Given the description of an element on the screen output the (x, y) to click on. 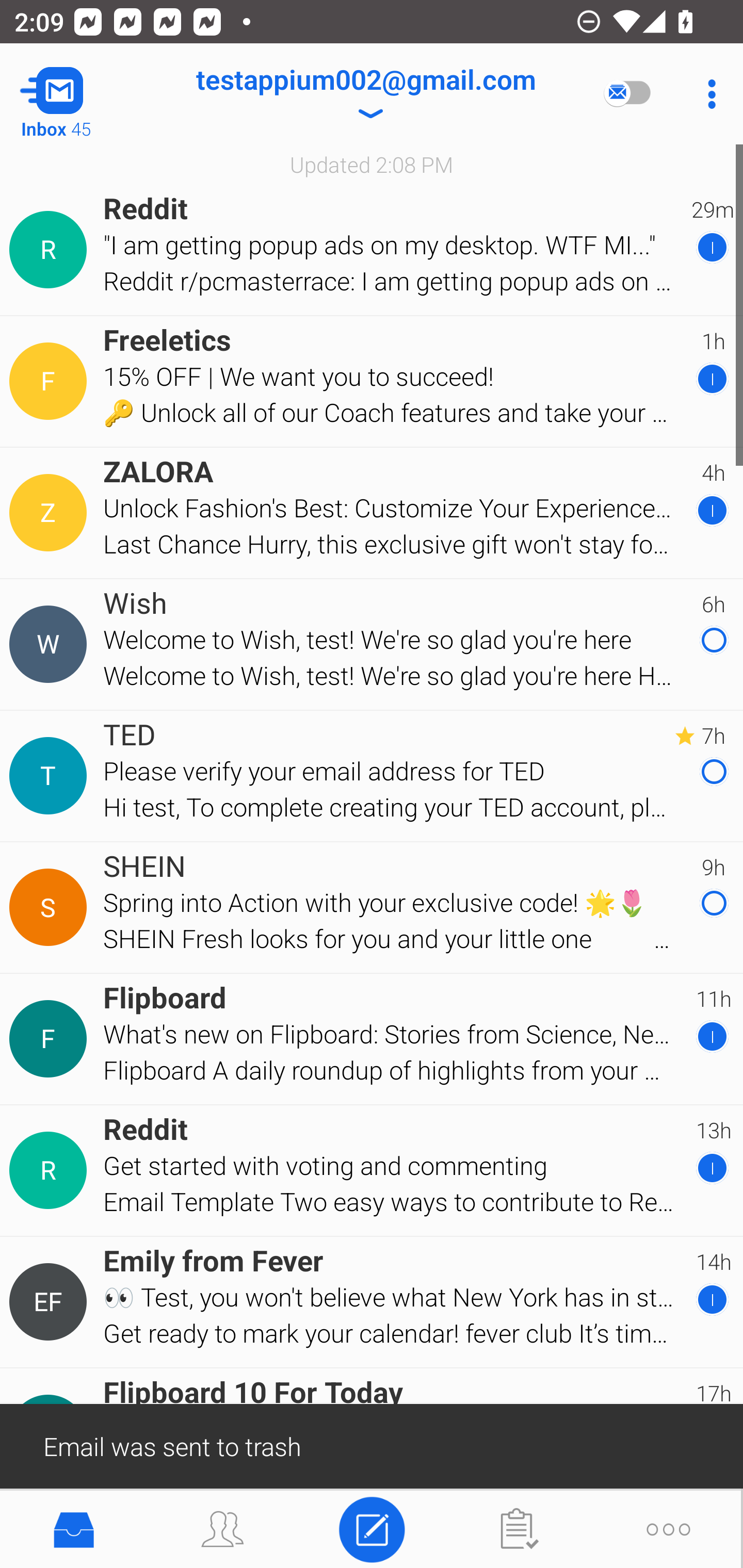
Navigate up (81, 93)
testappium002@gmail.com (365, 93)
More Options (706, 93)
Updated 2:08 PM (371, 164)
Contact Details (50, 250)
Contact Details (50, 381)
Contact Details (50, 513)
Contact Details (50, 644)
Contact Details (50, 776)
Contact Details (50, 907)
Contact Details (50, 1038)
Contact Details (50, 1170)
Contact Details (50, 1302)
Email was sent to trash (371, 1445)
Compose (371, 1528)
